Given the description of an element on the screen output the (x, y) to click on. 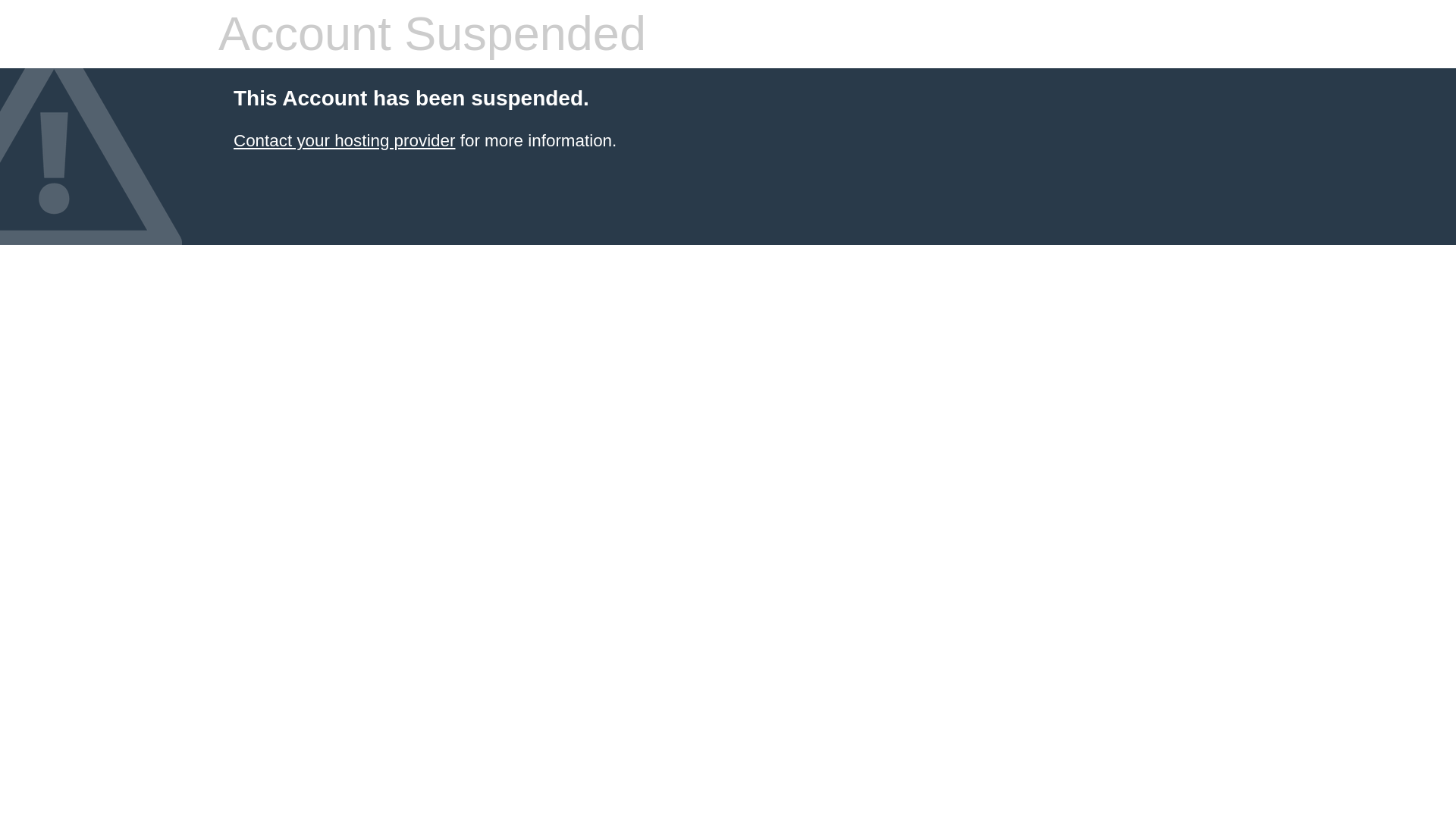
Contact your hosting provider (343, 140)
